Given the description of an element on the screen output the (x, y) to click on. 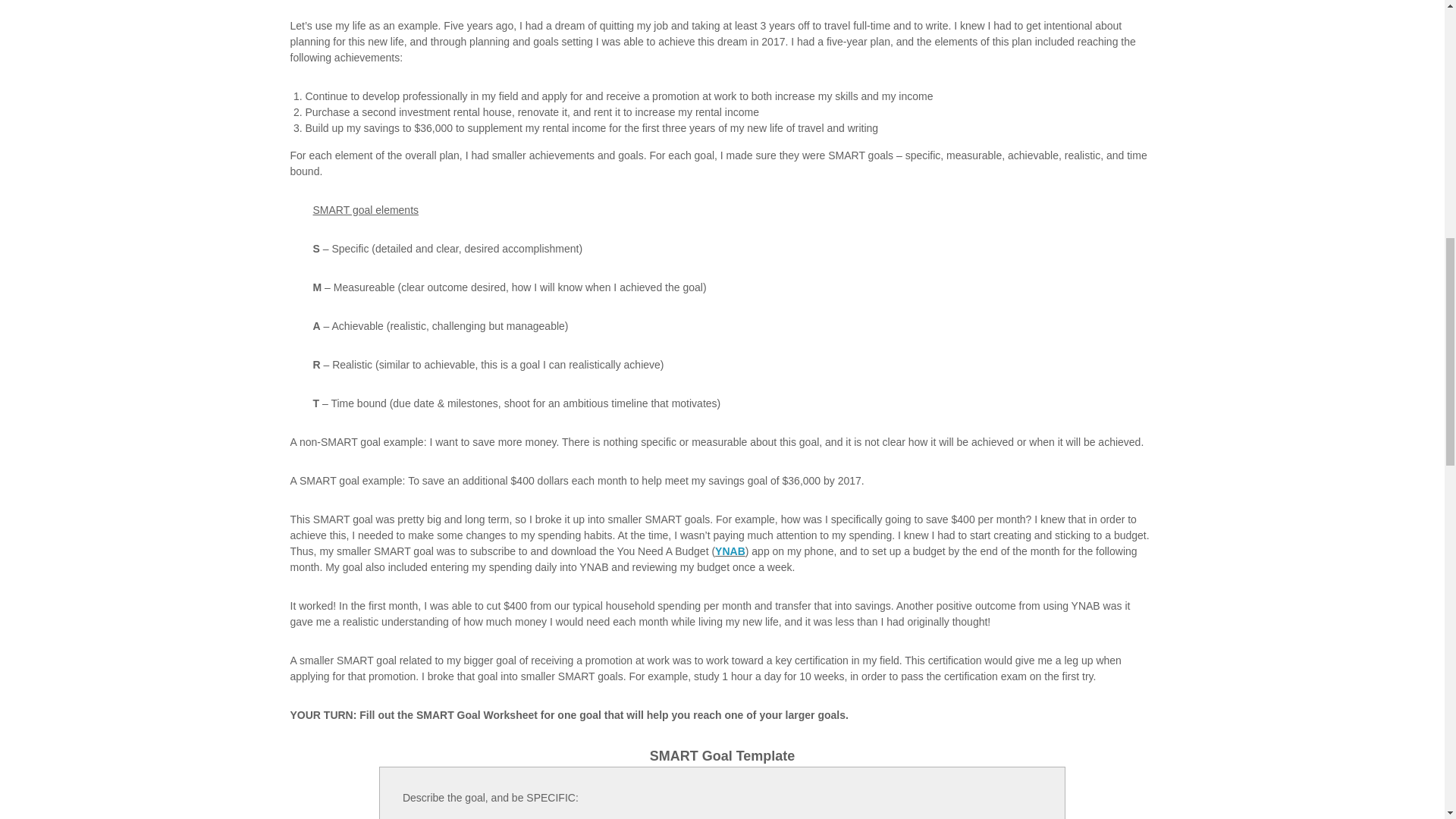
YNAB (729, 550)
